Given the description of an element on the screen output the (x, y) to click on. 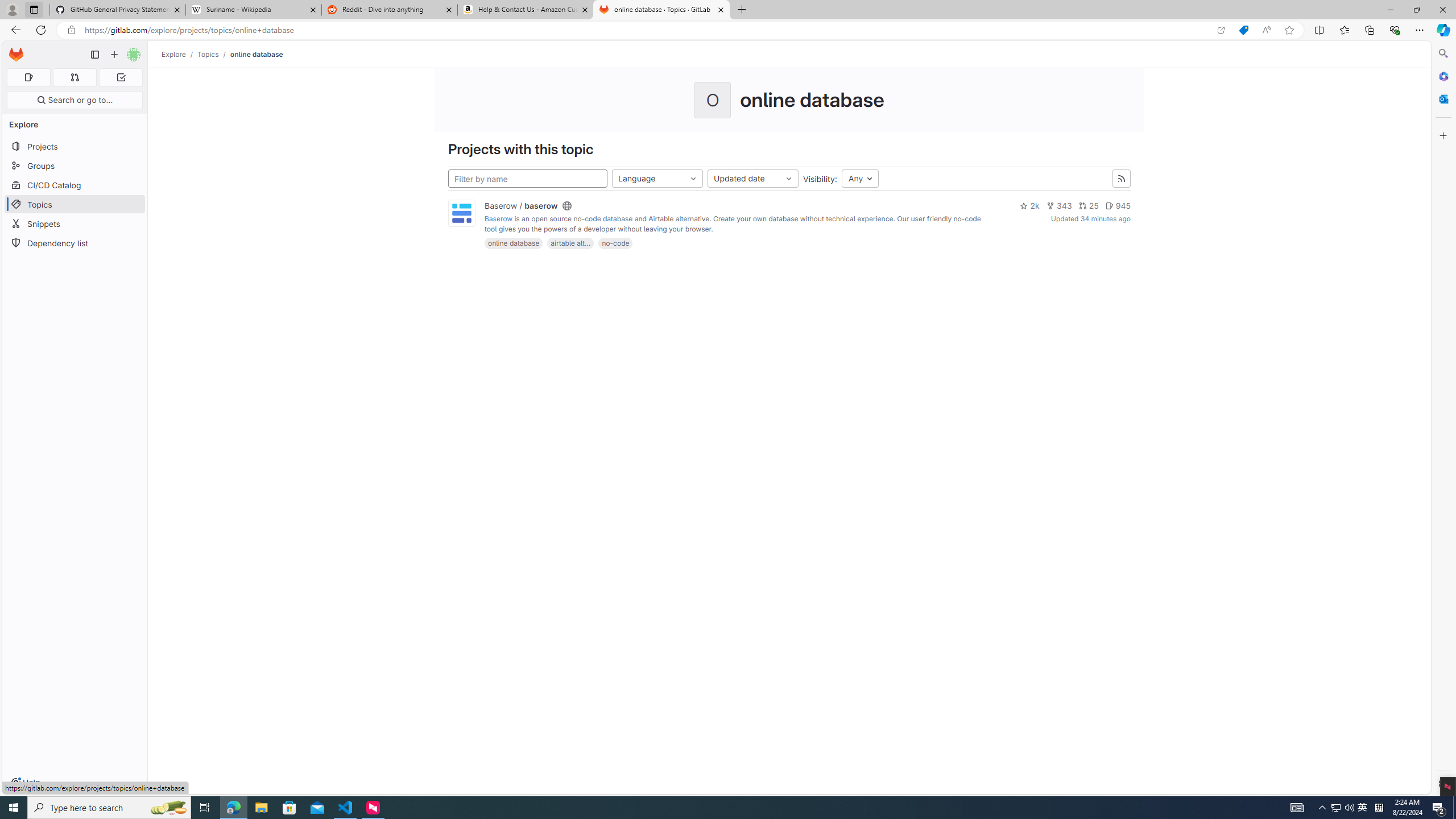
Projects (74, 145)
Create new... (113, 54)
Snippets (74, 223)
Baserow / baserow (520, 205)
Open in app (1220, 29)
Help (25, 782)
Homepage (16, 54)
Baserow (498, 218)
Class: s16 gl-icon gl-button-icon  (1120, 178)
Shopping in Microsoft Edge (1243, 29)
Class: project (462, 213)
